Given the description of an element on the screen output the (x, y) to click on. 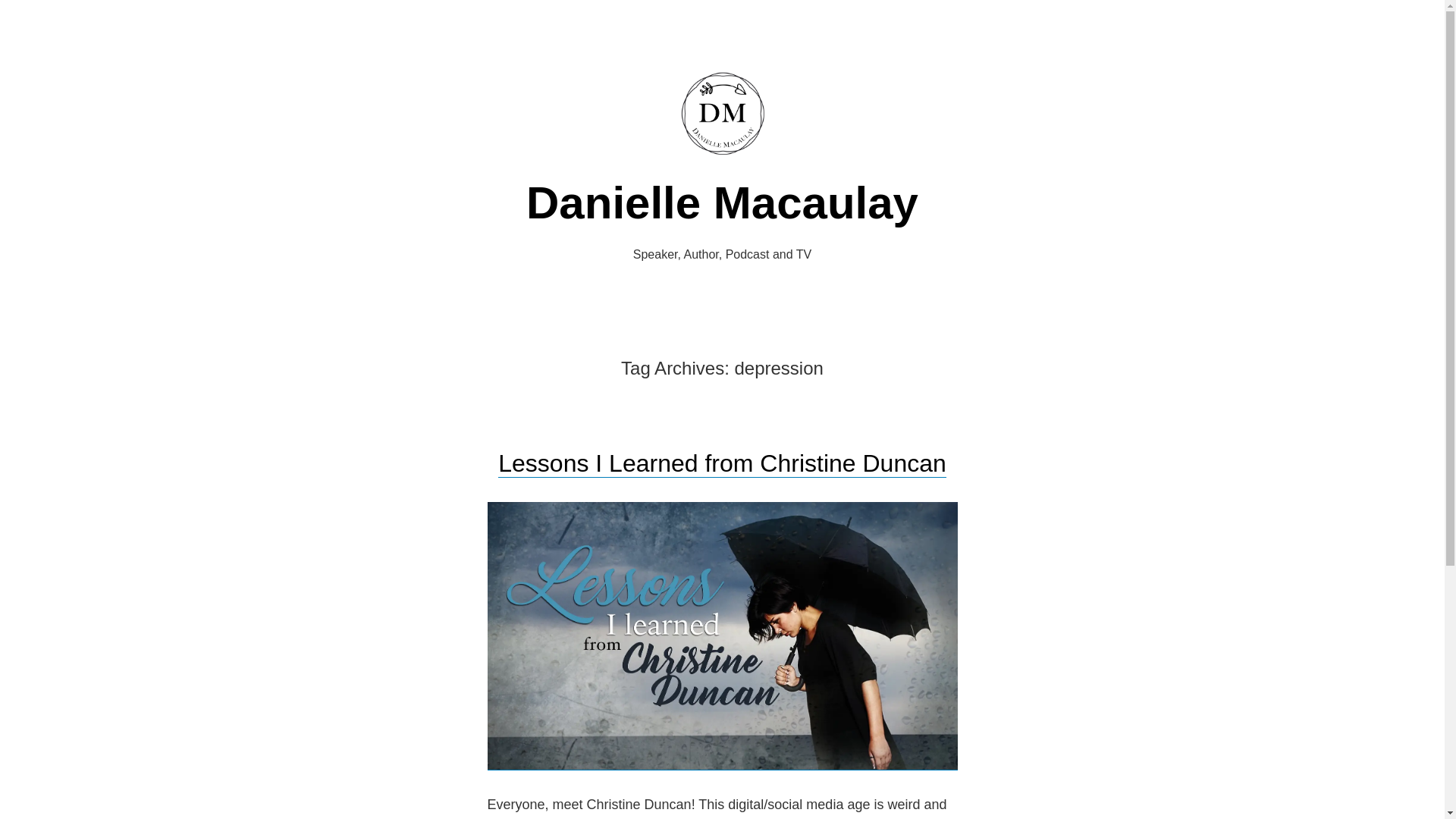
Danielle Macaulay (721, 202)
Lessons I Learned from Christine Duncan (721, 463)
